Given the description of an element on the screen output the (x, y) to click on. 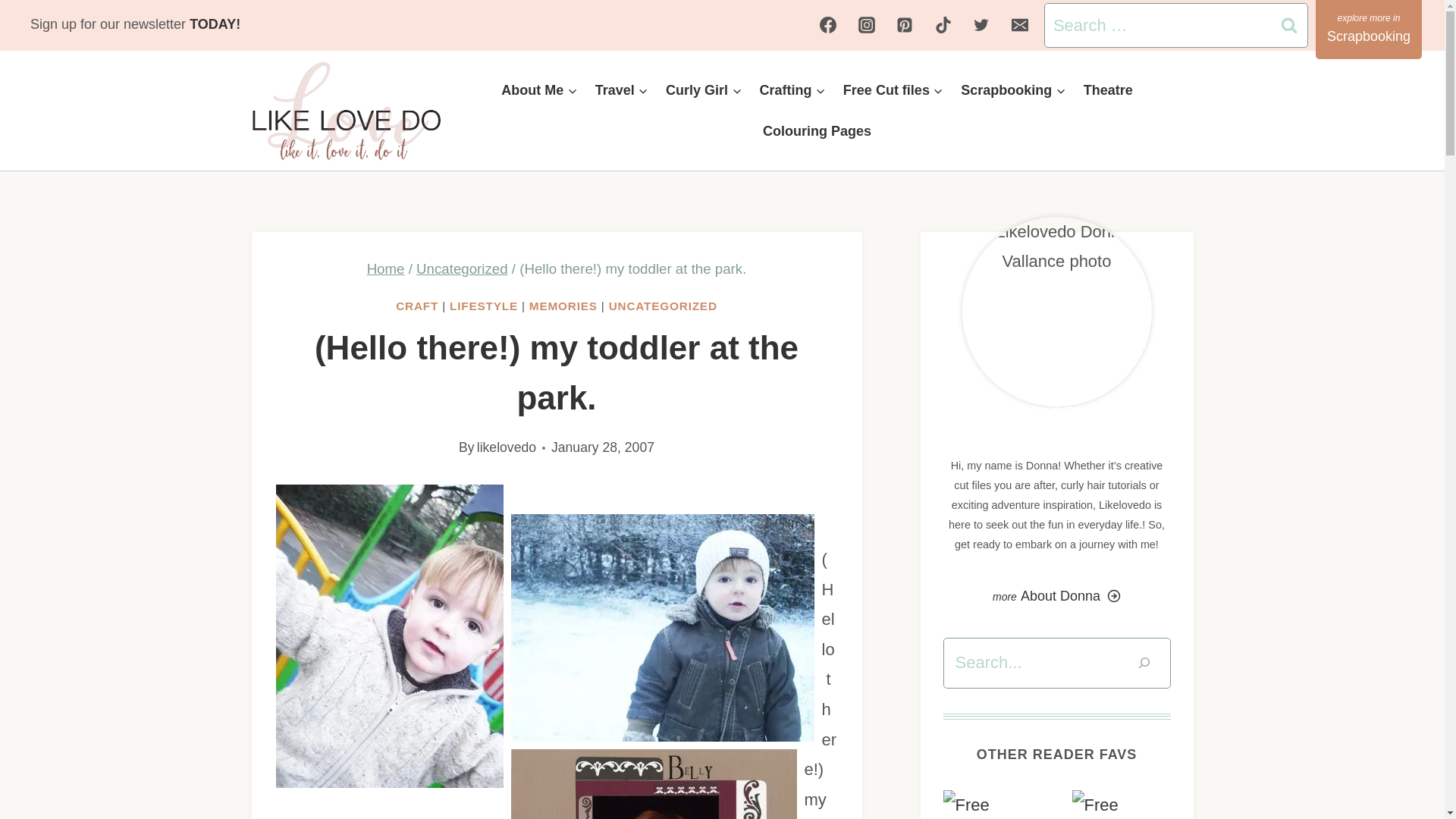
Travel (621, 89)
TODAY!   (218, 23)
About Me (539, 89)
Scrapbooking (1369, 29)
